Given the description of an element on the screen output the (x, y) to click on. 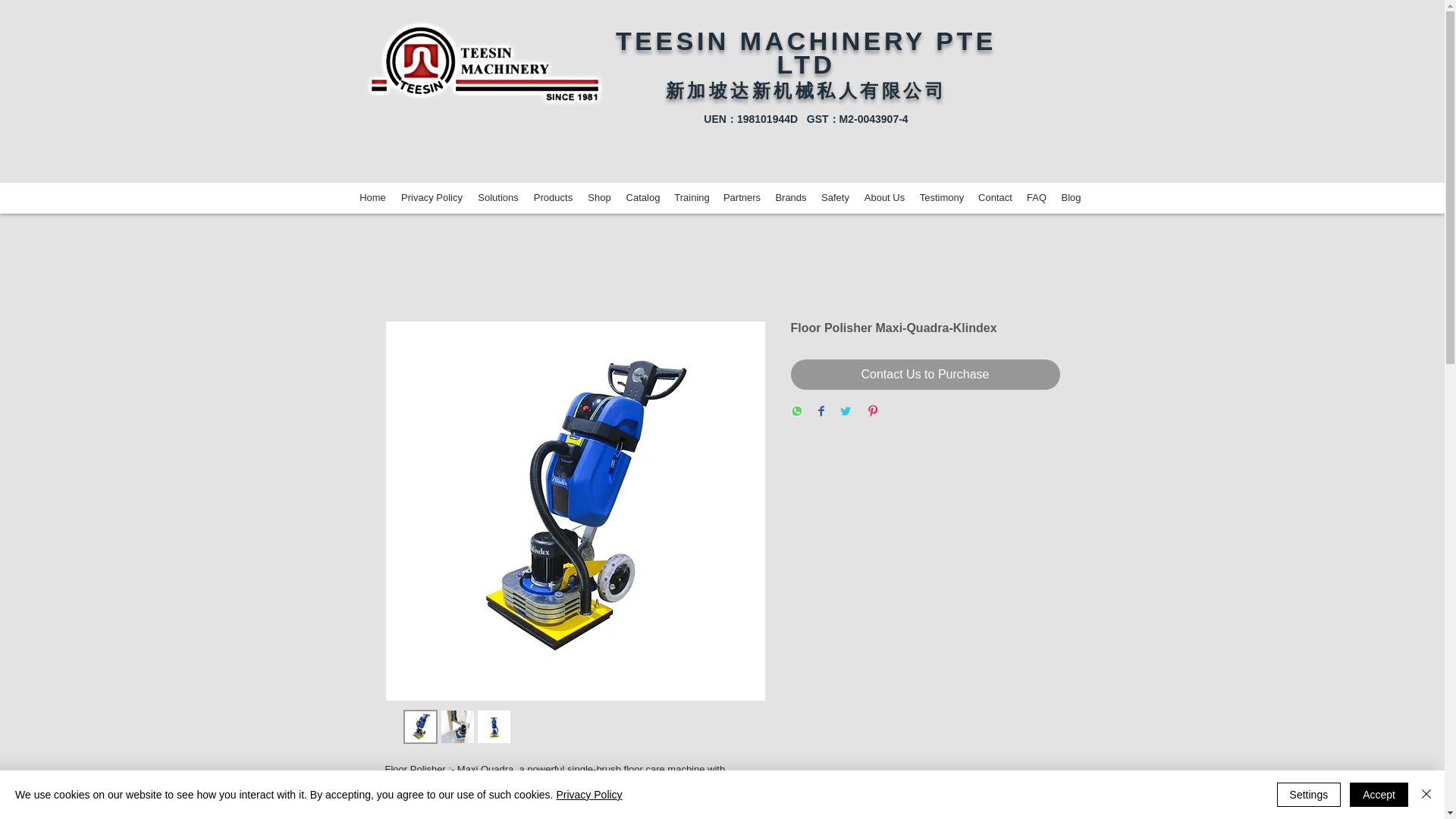
Home (372, 197)
Products (553, 197)
Catalog (643, 197)
Privacy Policy (431, 197)
Shop (599, 197)
Solutions (497, 197)
TEESIN MACHINERY PTE LTD (805, 52)
Training (691, 197)
